Given the description of an element on the screen output the (x, y) to click on. 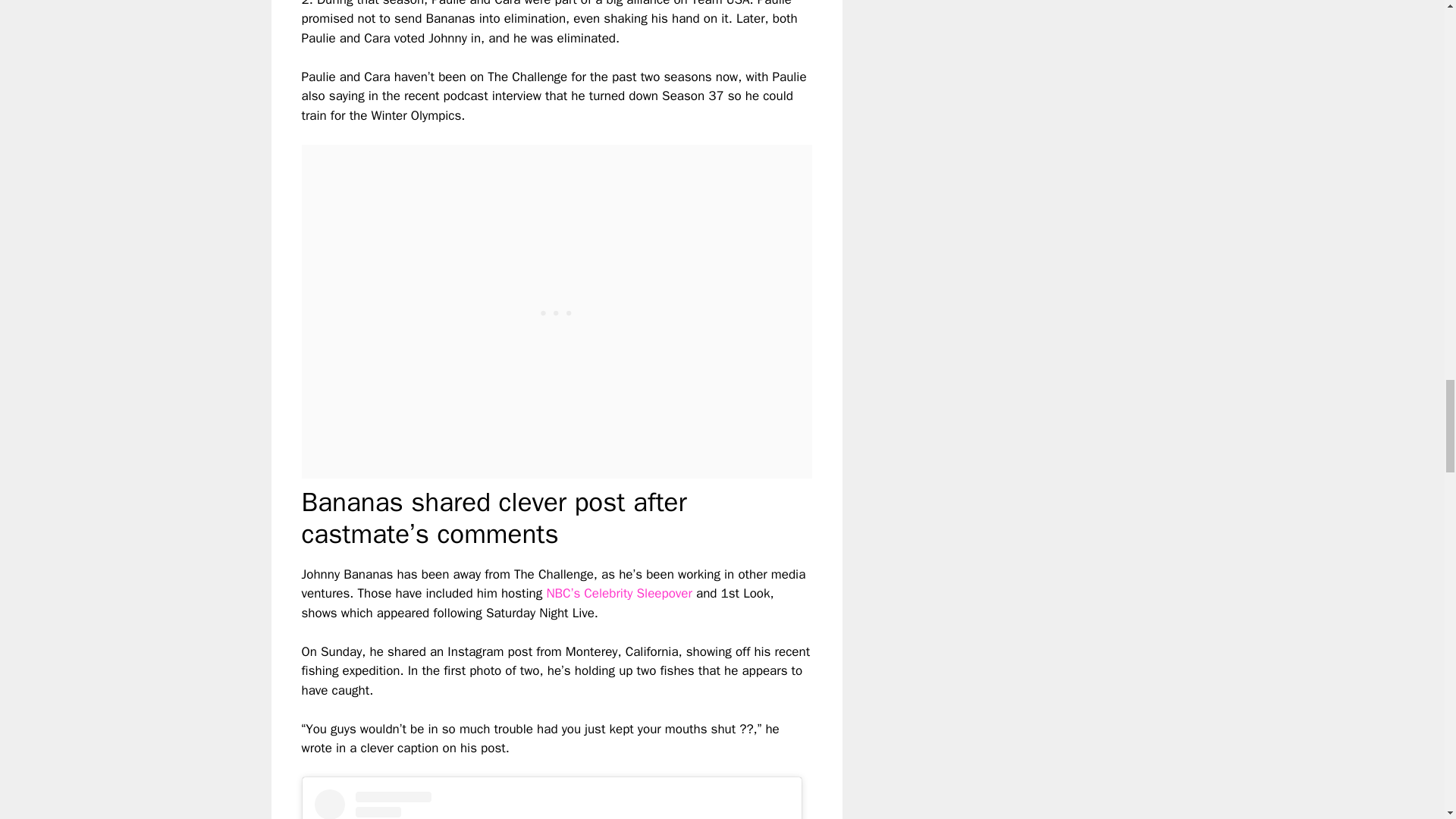
View this post on Instagram (551, 804)
